Given the description of an element on the screen output the (x, y) to click on. 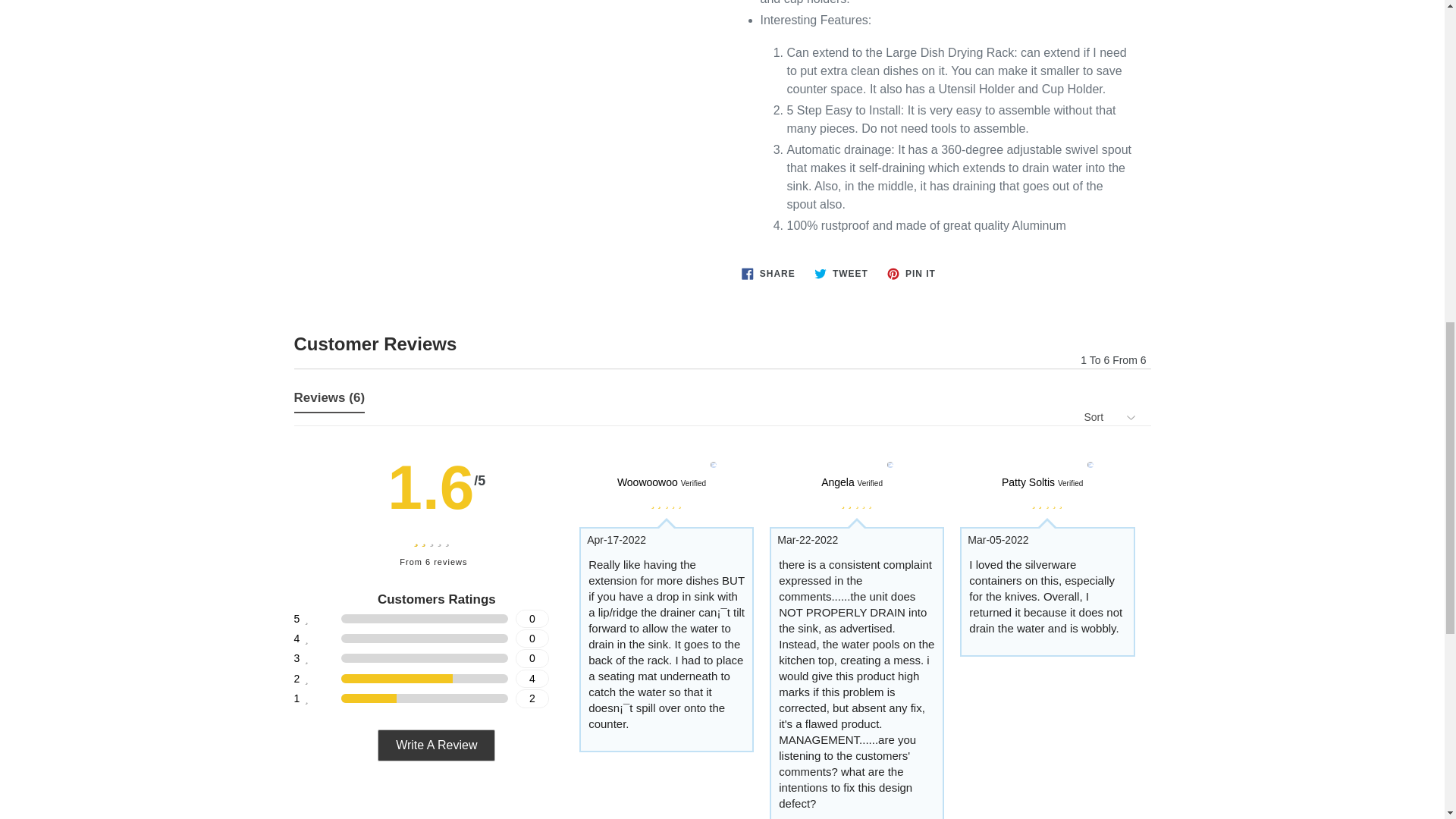
Write A Review (436, 745)
